Given the description of an element on the screen output the (x, y) to click on. 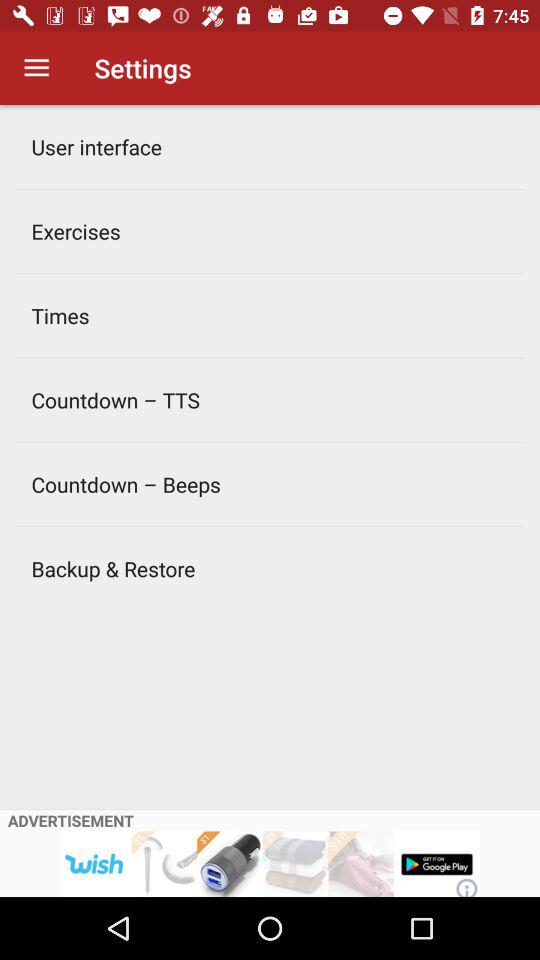
announcement (270, 864)
